Given the description of an element on the screen output the (x, y) to click on. 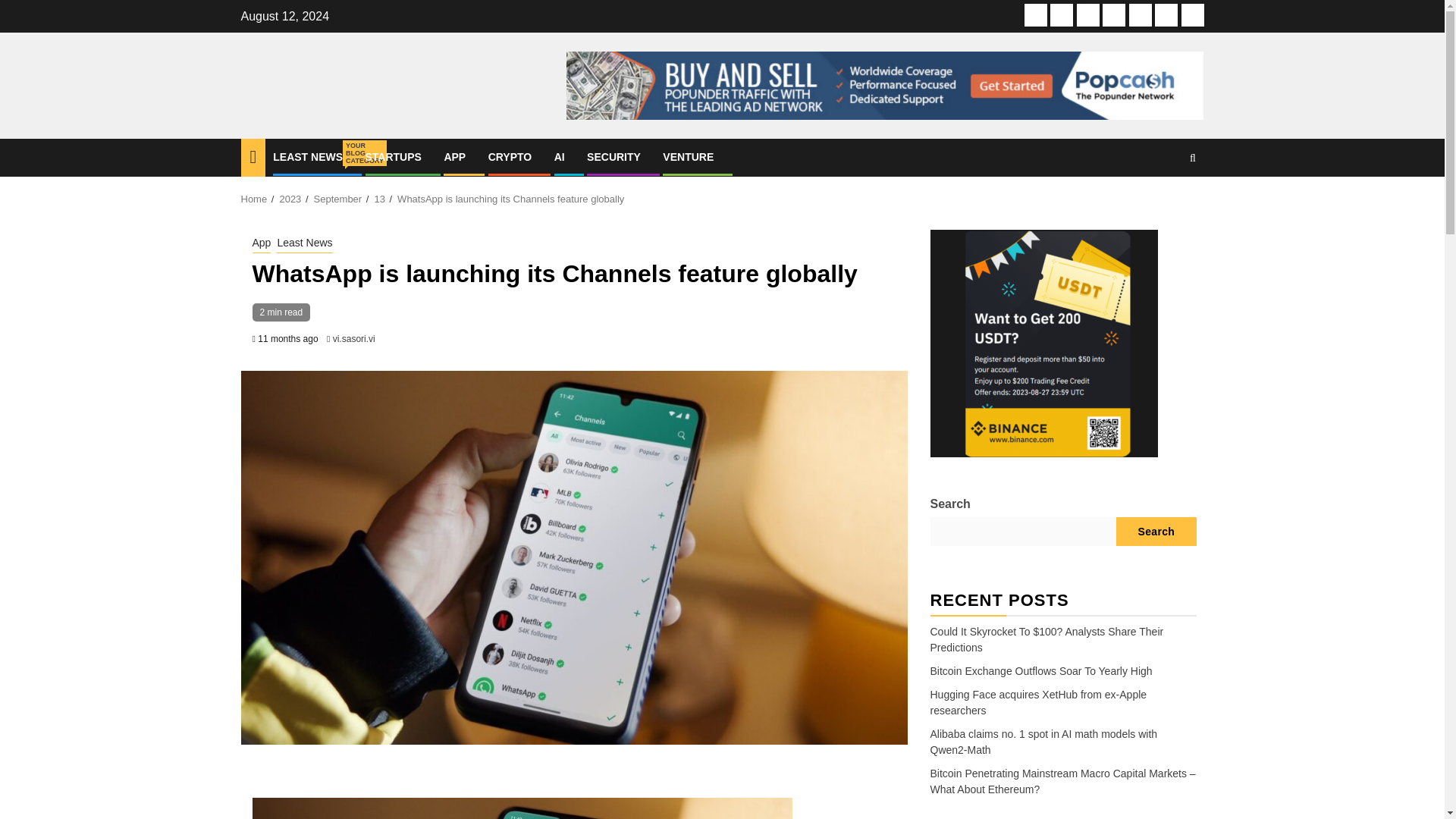
Home (254, 198)
2023 (290, 198)
Search (1163, 203)
September (338, 198)
WhatsApp is launching its Channels feature globally (510, 198)
AI (1140, 15)
CRYPTO (509, 156)
Startups (1061, 15)
Venture (1192, 15)
Least News (1035, 15)
